Given the description of an element on the screen output the (x, y) to click on. 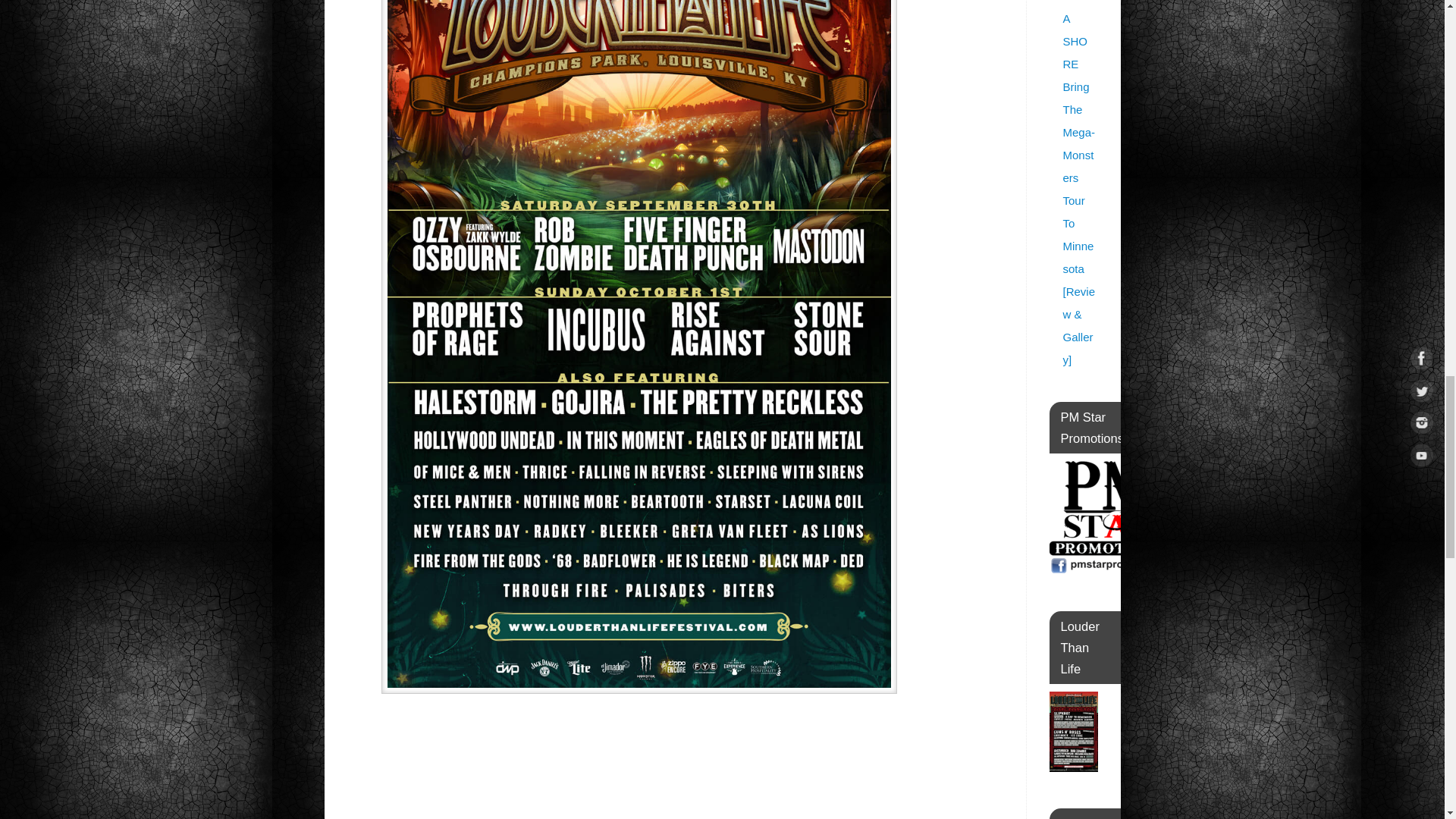
YouTube player (627, 762)
